Given the description of an element on the screen output the (x, y) to click on. 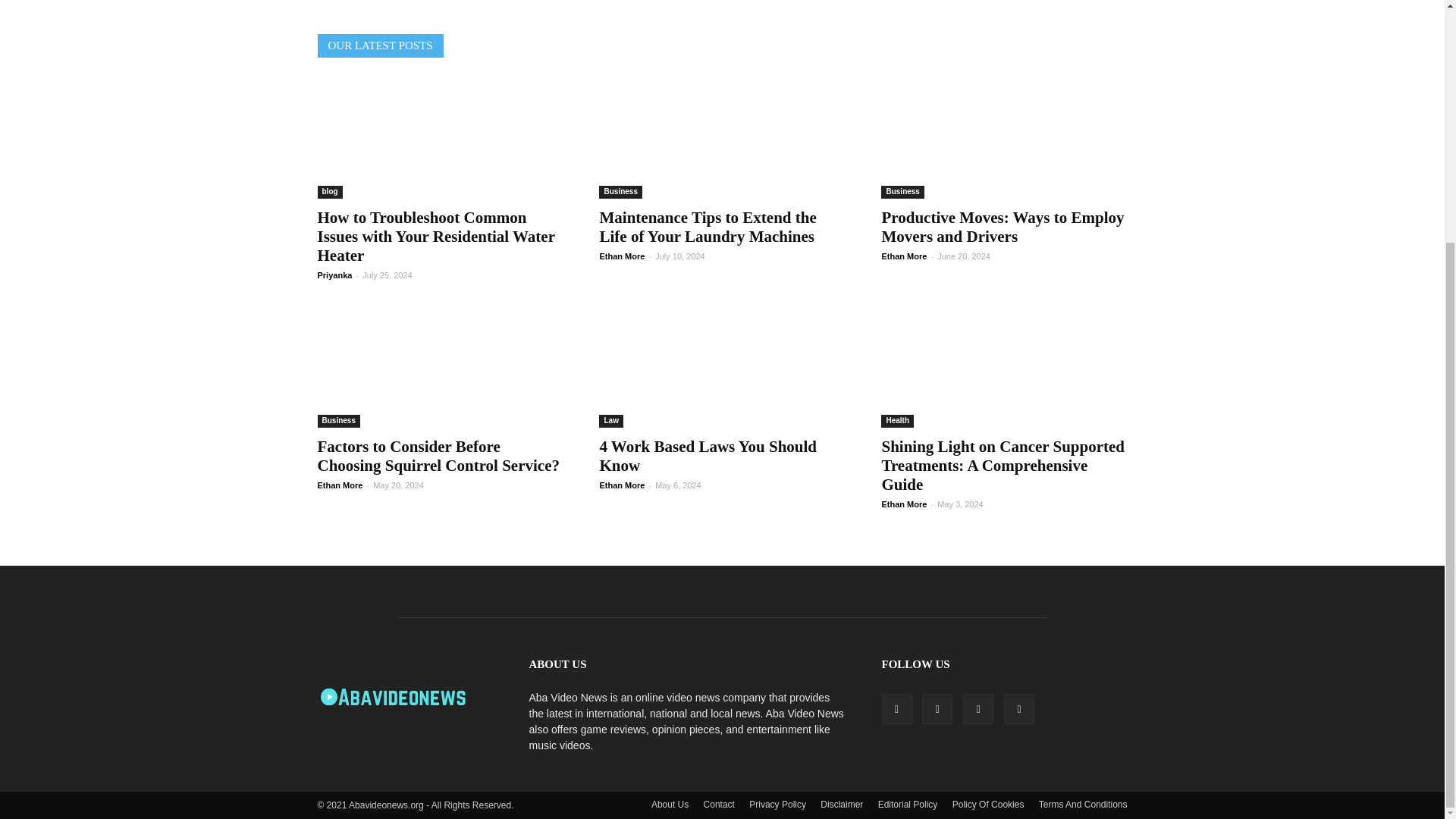
Productive Moves: Ways to Employ Movers and Drivers (1002, 226)
Productive Moves: Ways to Employ Movers and Drivers (1003, 137)
Maintenance Tips to Extend the Life of Your Laundry Machines (706, 226)
Maintenance Tips to Extend the Life of Your Laundry Machines (721, 137)
blog (329, 192)
